Given the description of an element on the screen output the (x, y) to click on. 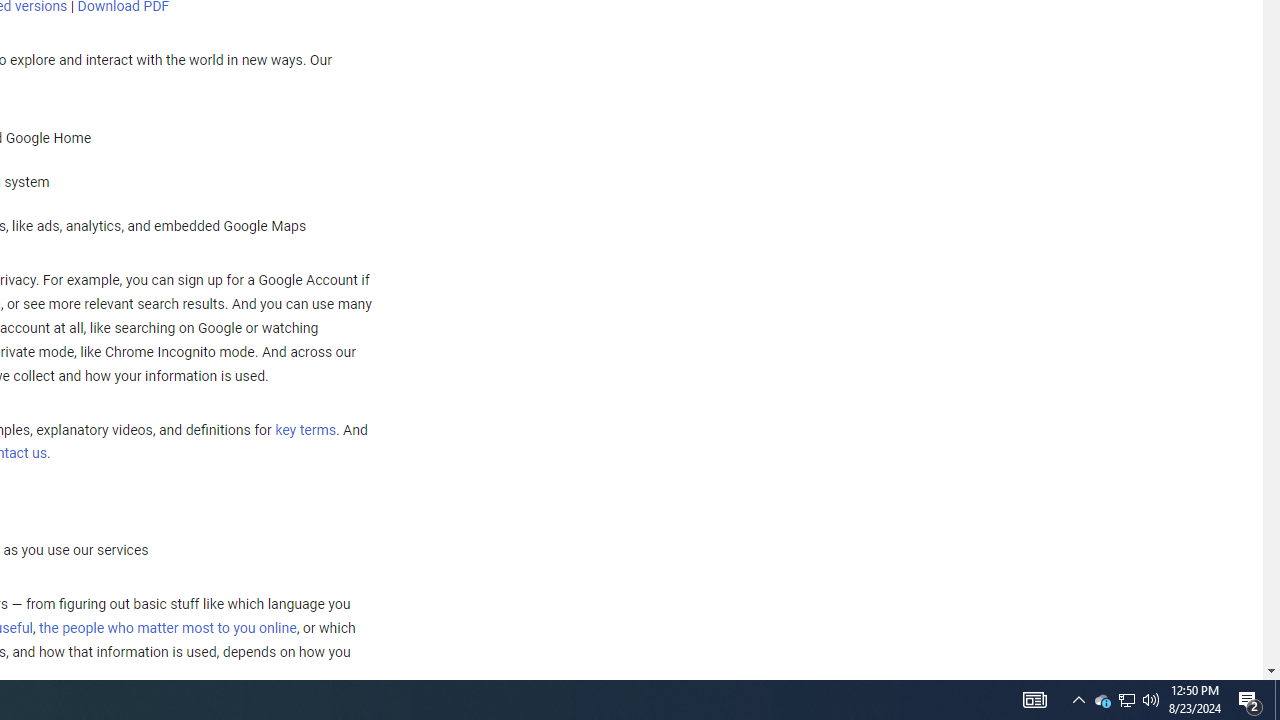
the people who matter most to you online (167, 628)
key terms (305, 430)
